Given the description of an element on the screen output the (x, y) to click on. 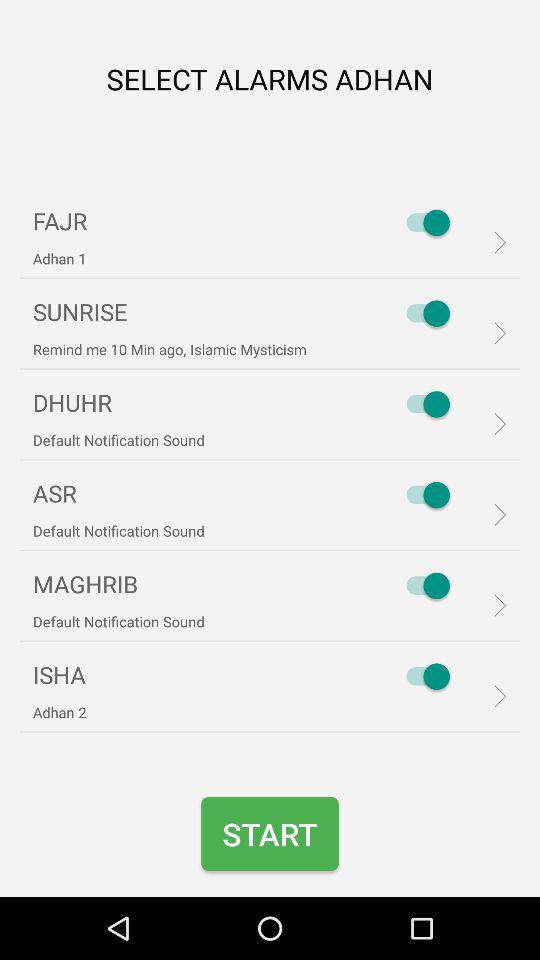
launch the item below select alarms adhan icon (423, 222)
